Given the description of an element on the screen output the (x, y) to click on. 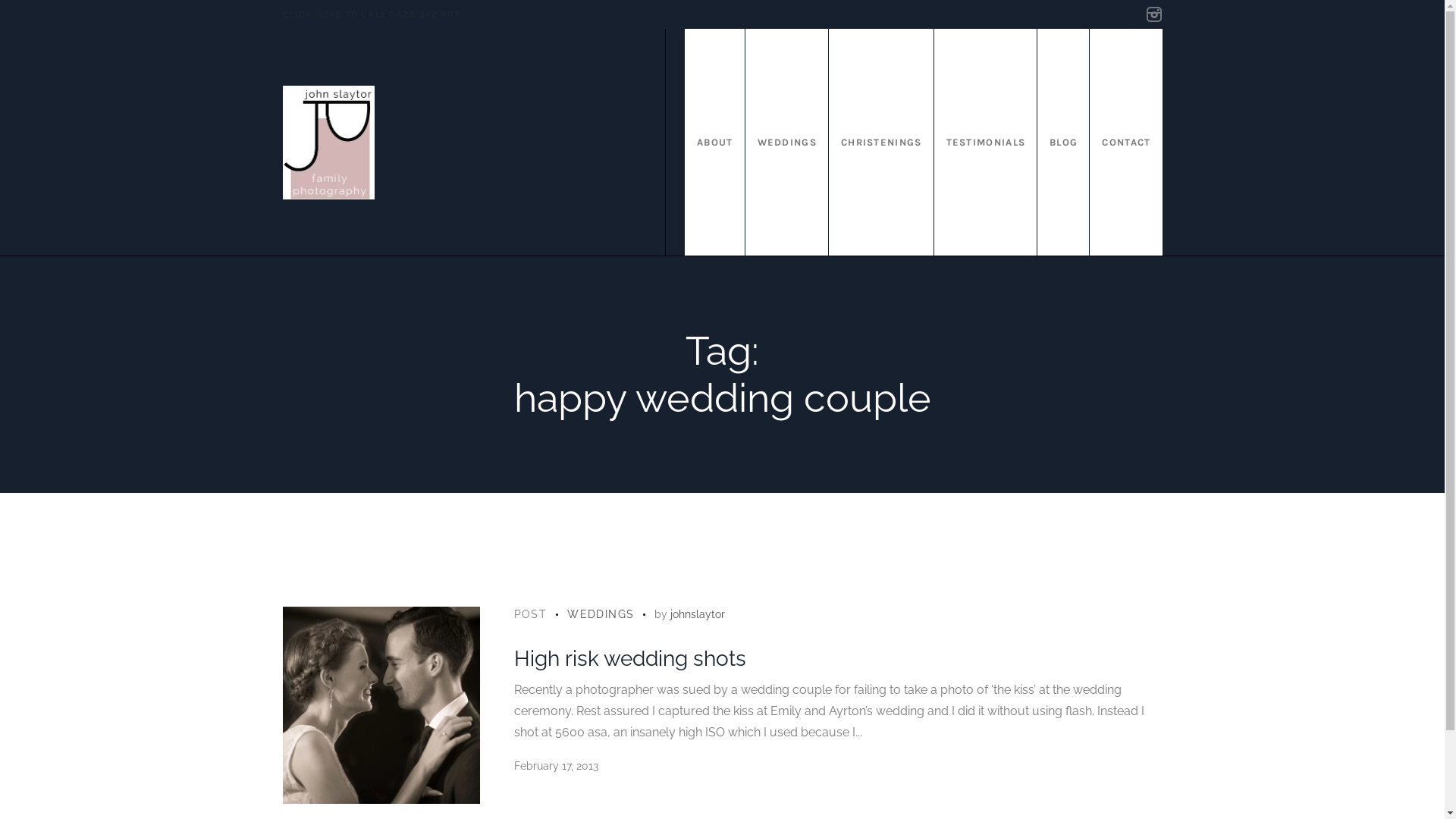
CONTACT Element type: text (1125, 141)
CLICK HERE TO CALL 0420 342 007 Element type: text (370, 14)
TESTIMONIALS Element type: text (985, 141)
johnslaytor Element type: text (697, 614)
High risk wedding shots Element type: hover (380, 704)
BLOG Element type: text (1062, 141)
ABOUT Element type: text (714, 141)
WEDDINGS Element type: text (600, 614)
Instagram Element type: hover (1153, 14)
High risk wedding shots Element type: text (630, 658)
WEDDINGS Element type: text (786, 141)
CHRISTENINGS Element type: text (880, 141)
